Given the description of an element on the screen output the (x, y) to click on. 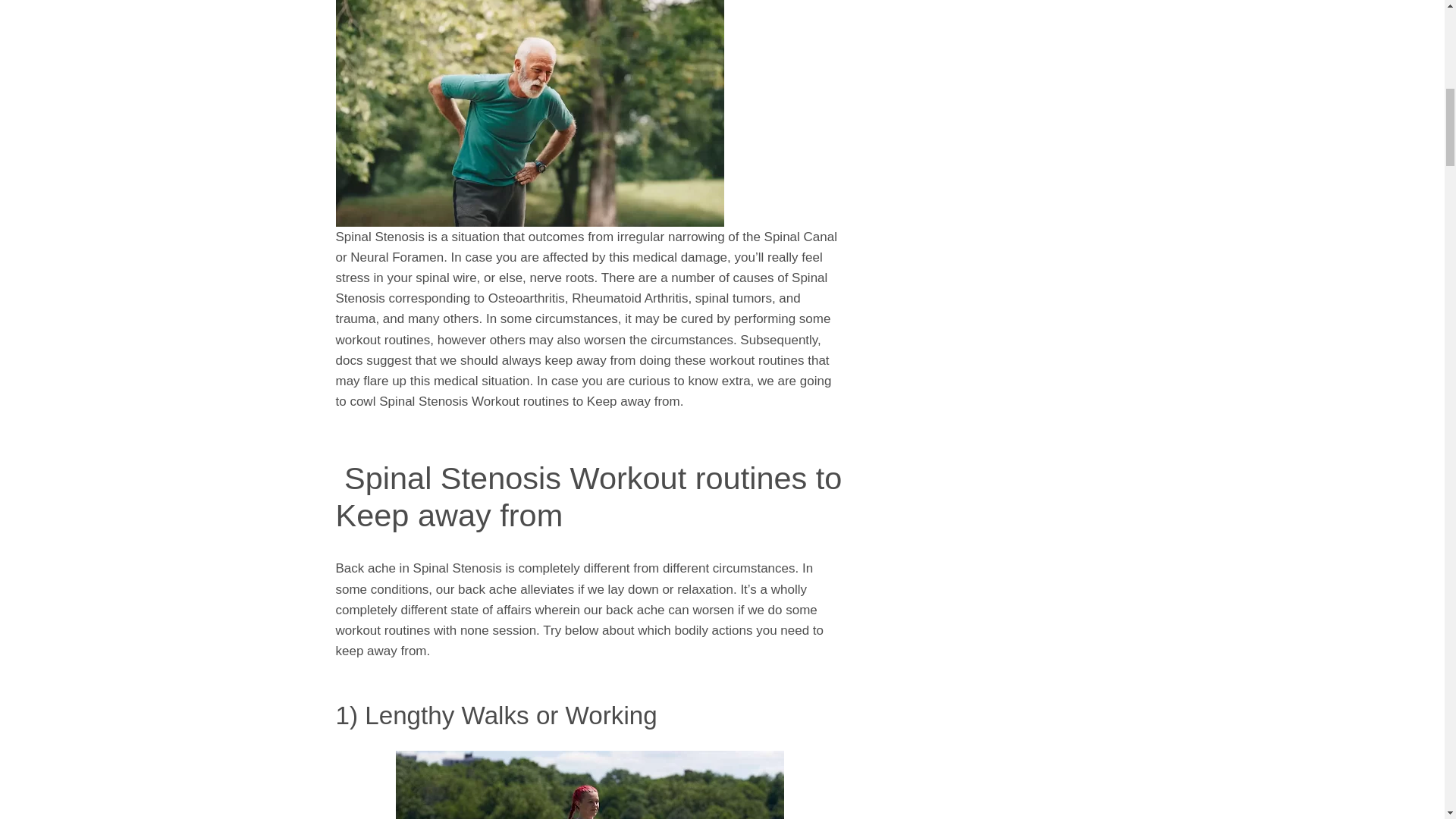
Spinal Stenosis (528, 113)
